Given the description of an element on the screen output the (x, y) to click on. 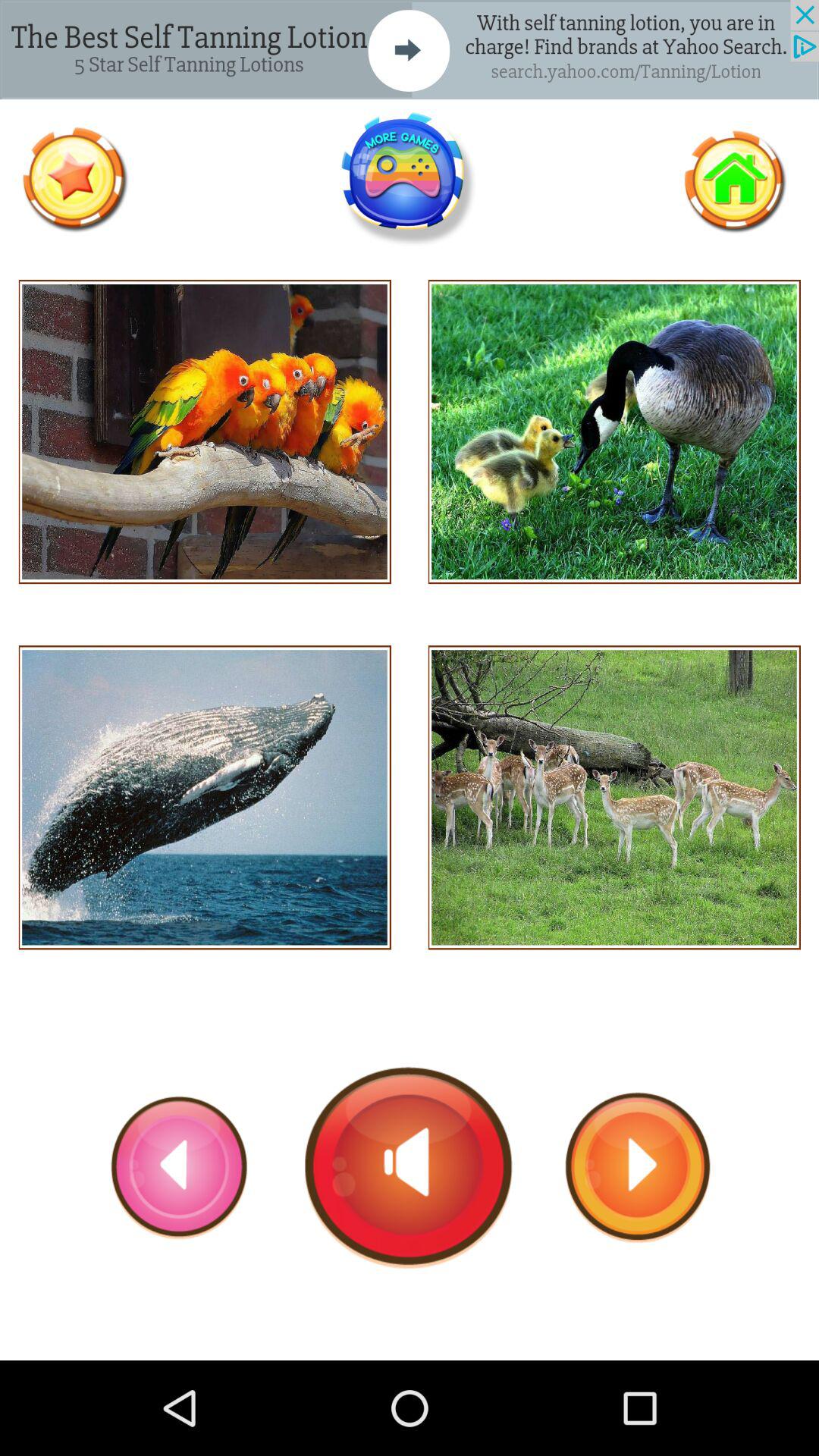
enlarge selected picture (204, 797)
